Given the description of an element on the screen output the (x, y) to click on. 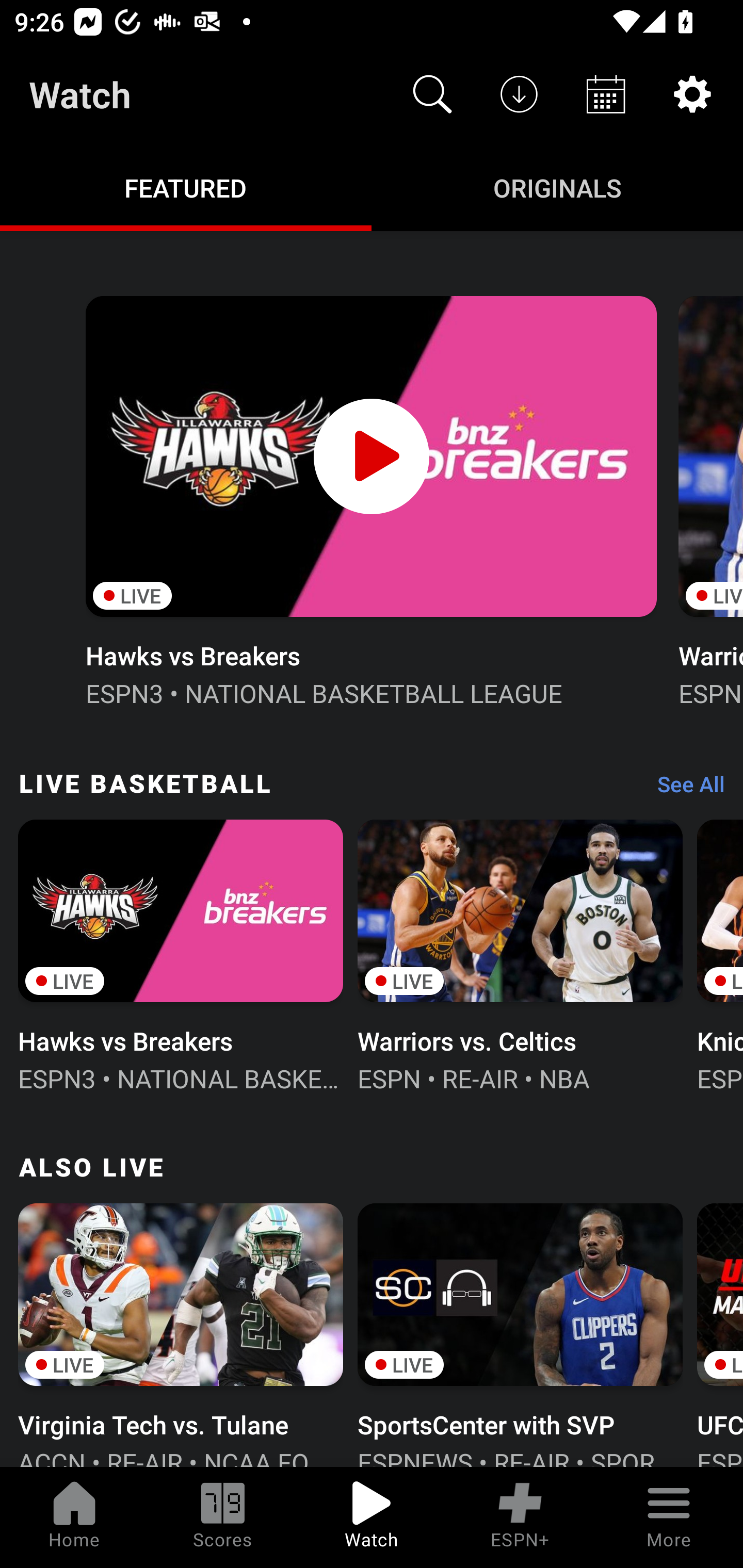
Search (432, 93)
Downloads (518, 93)
Schedule (605, 93)
Settings (692, 93)
Originals ORIGINALS (557, 187)
See All (683, 788)
LIVE Warriors vs. Celtics ESPN • RE-AIR • NBA (519, 954)
Home (74, 1517)
Scores (222, 1517)
ESPN+ (519, 1517)
More (668, 1517)
